Given the description of an element on the screen output the (x, y) to click on. 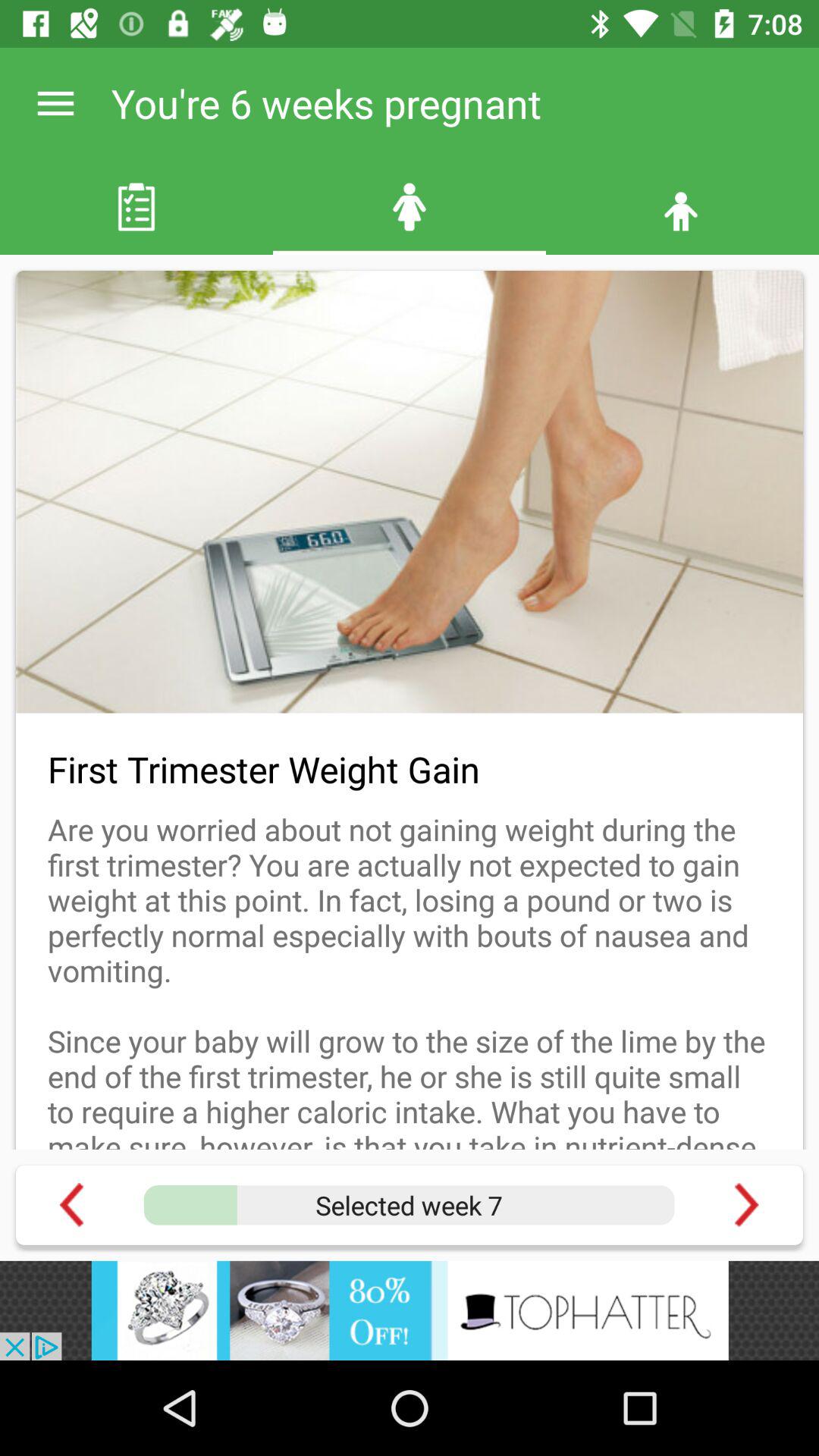
select week (408, 1205)
